Given the description of an element on the screen output the (x, y) to click on. 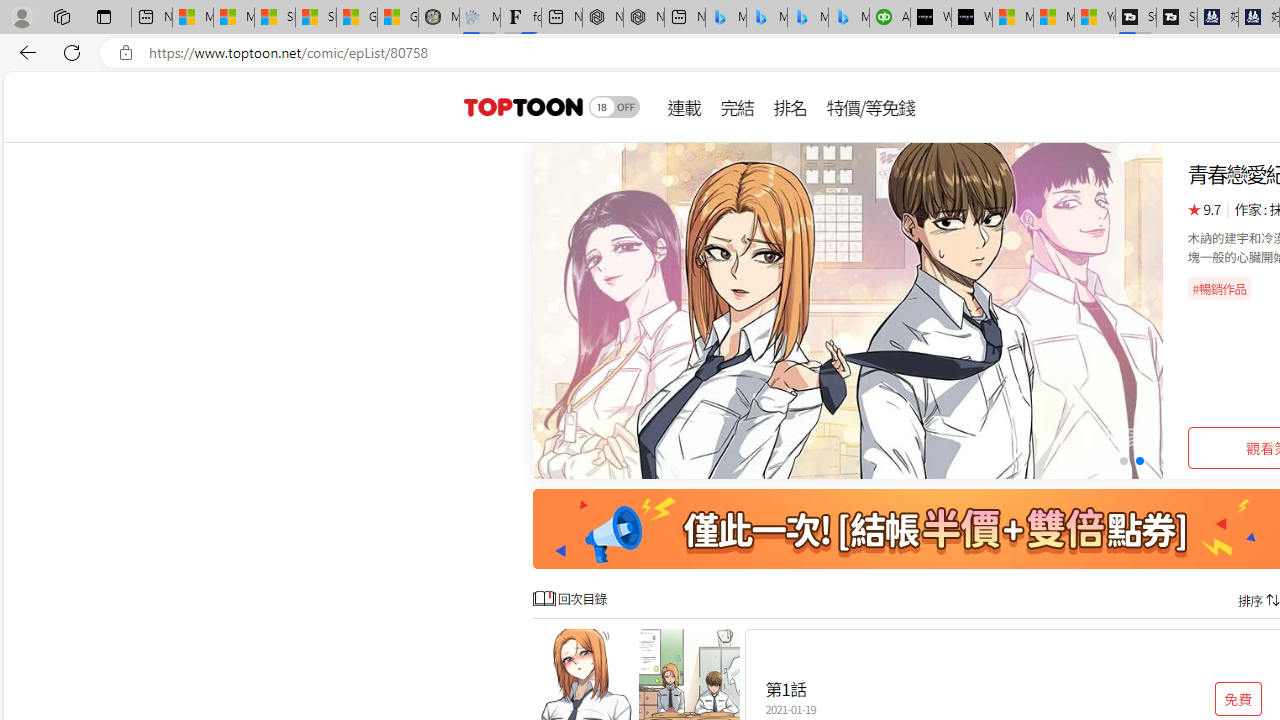
Accounting Software for Accountants, CPAs and Bookkeepers (890, 17)
Microsoft Bing Travel - Stays in Bangkok, Bangkok, Thailand (767, 17)
Manatee Mortality Statistics | FWC (438, 17)
header (519, 106)
